Given the description of an element on the screen output the (x, y) to click on. 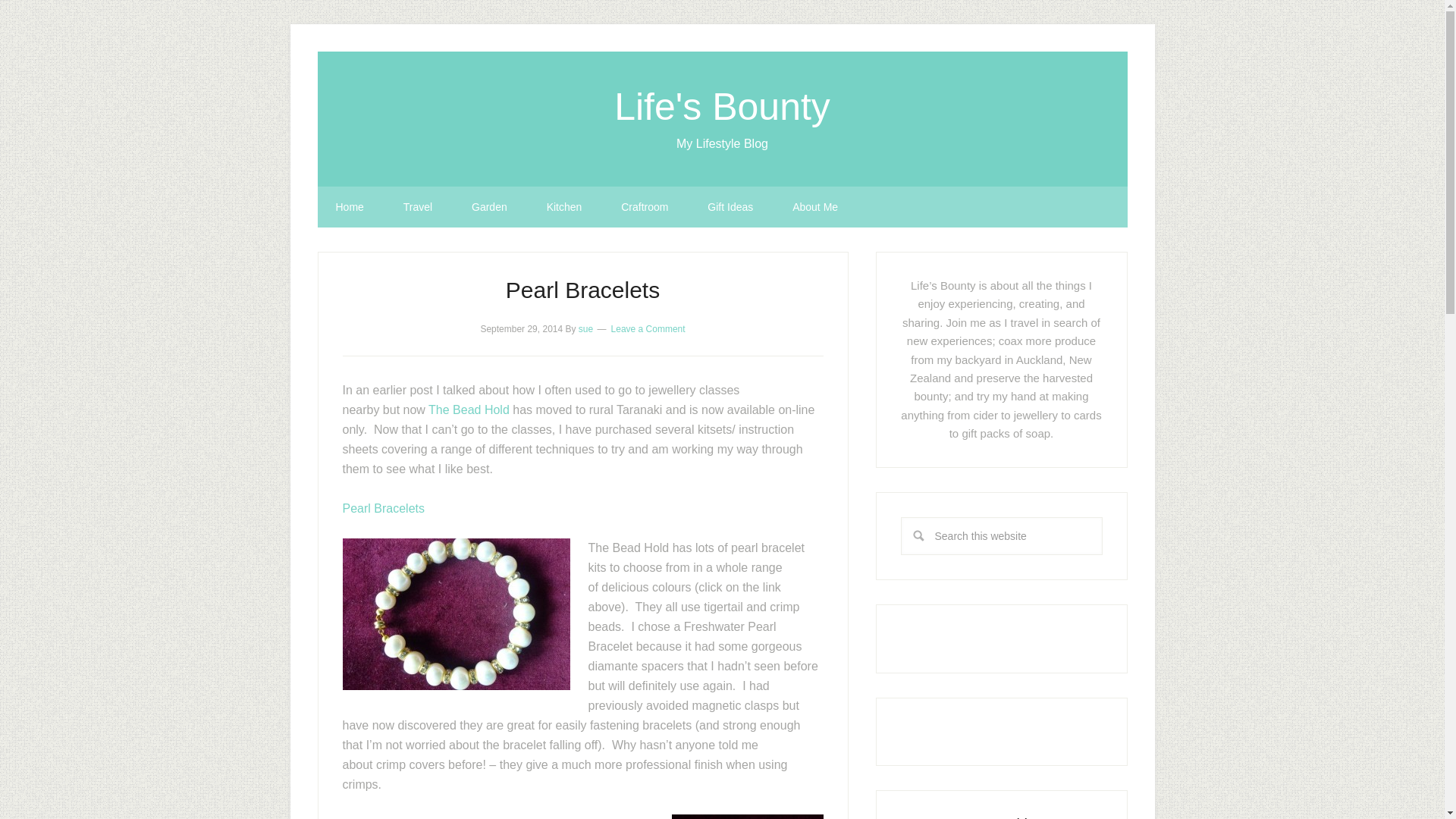
Home (349, 206)
Travel (417, 206)
Life's Bounty (721, 106)
The Bead Hold (470, 409)
Pearl Bracelets (383, 508)
